Given the description of an element on the screen output the (x, y) to click on. 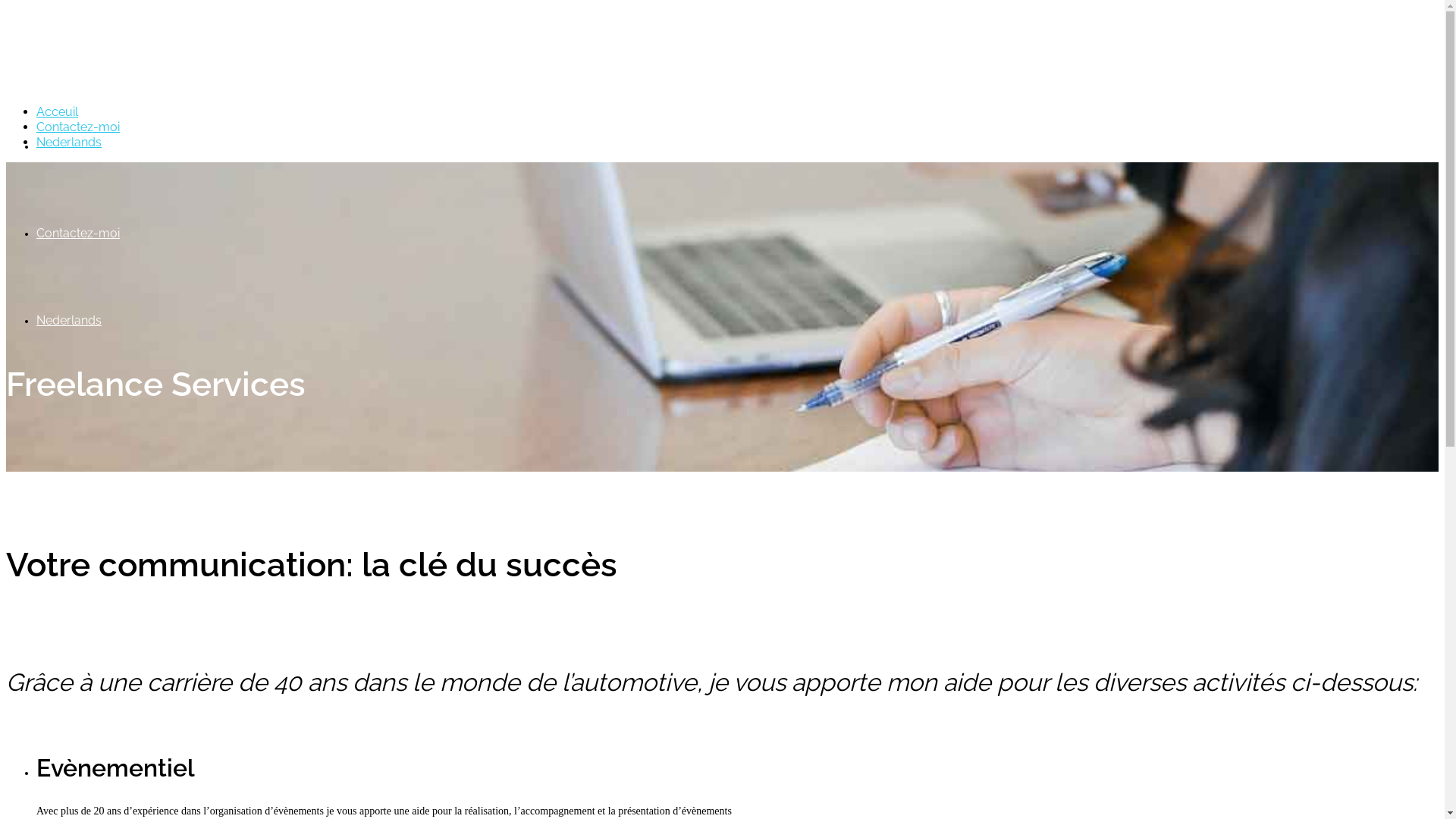
Acceuil Element type: text (57, 111)
Nederlands Element type: text (68, 141)
Contactez-moi Element type: text (77, 232)
Acceuil Element type: text (57, 145)
Nederlands Element type: text (68, 320)
Contactez-moi Element type: text (77, 126)
